Given the description of an element on the screen output the (x, y) to click on. 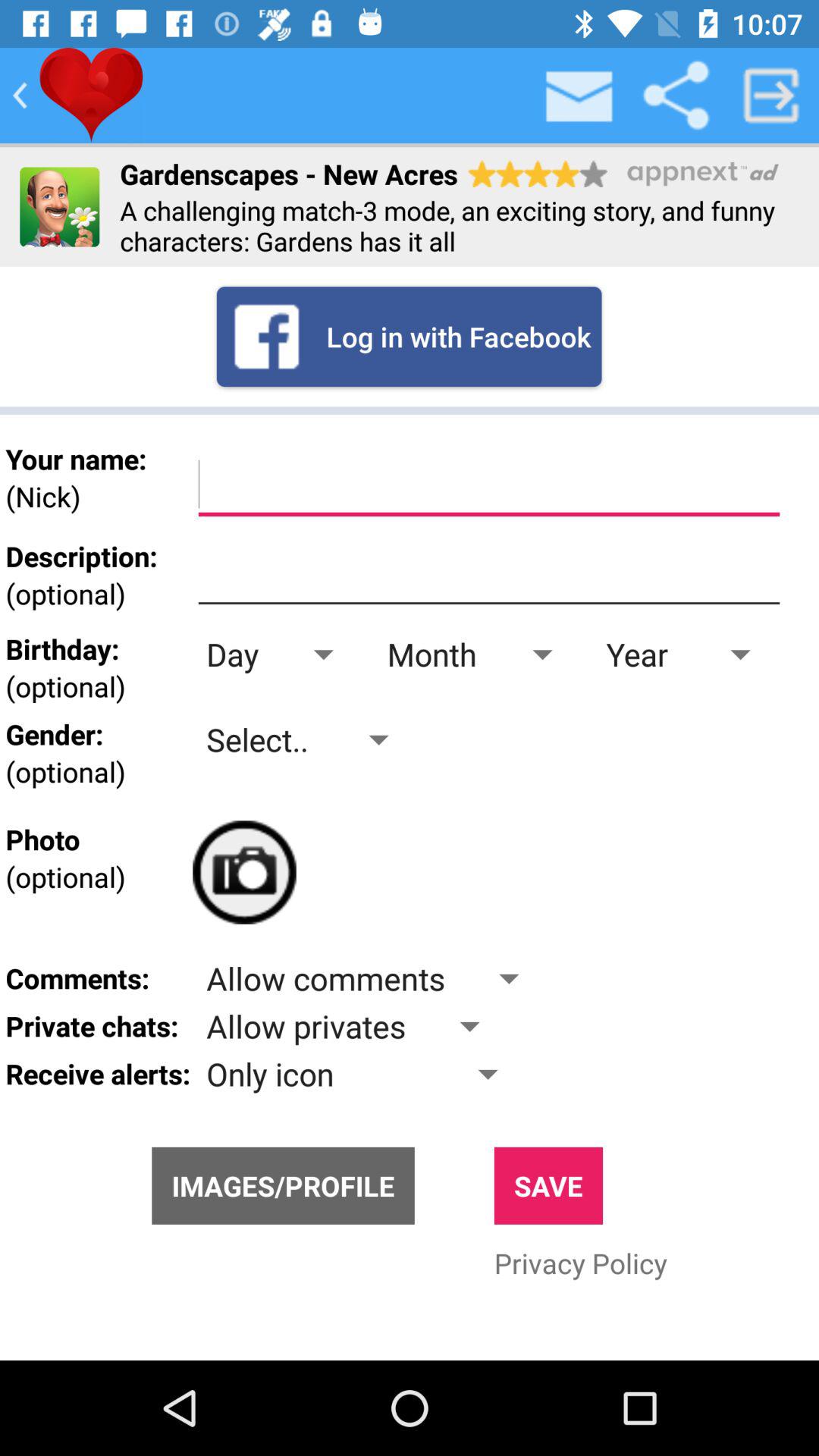
select photo (244, 872)
